Given the description of an element on the screen output the (x, y) to click on. 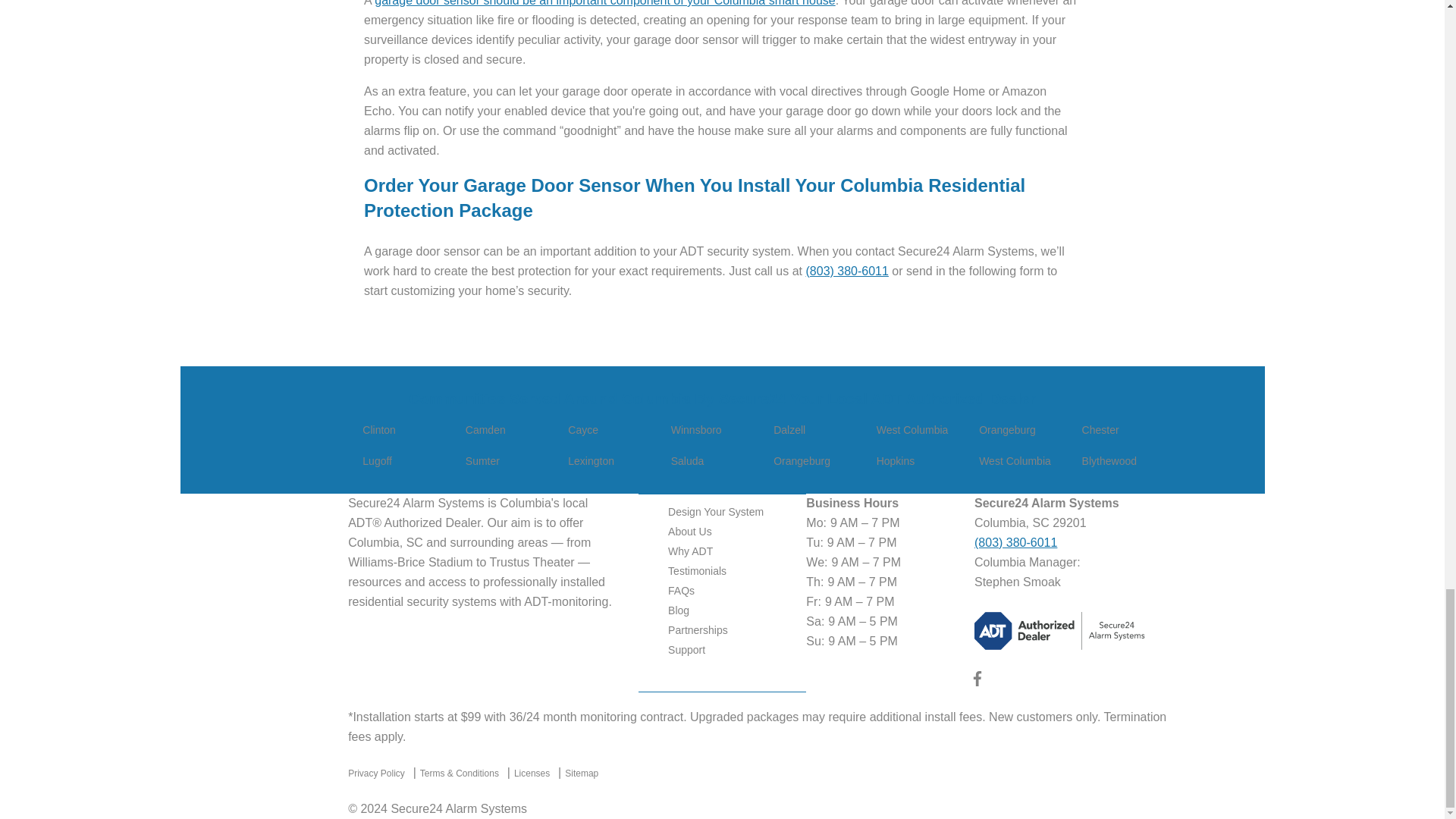
Like us on Facebook (977, 681)
